Given the description of an element on the screen output the (x, y) to click on. 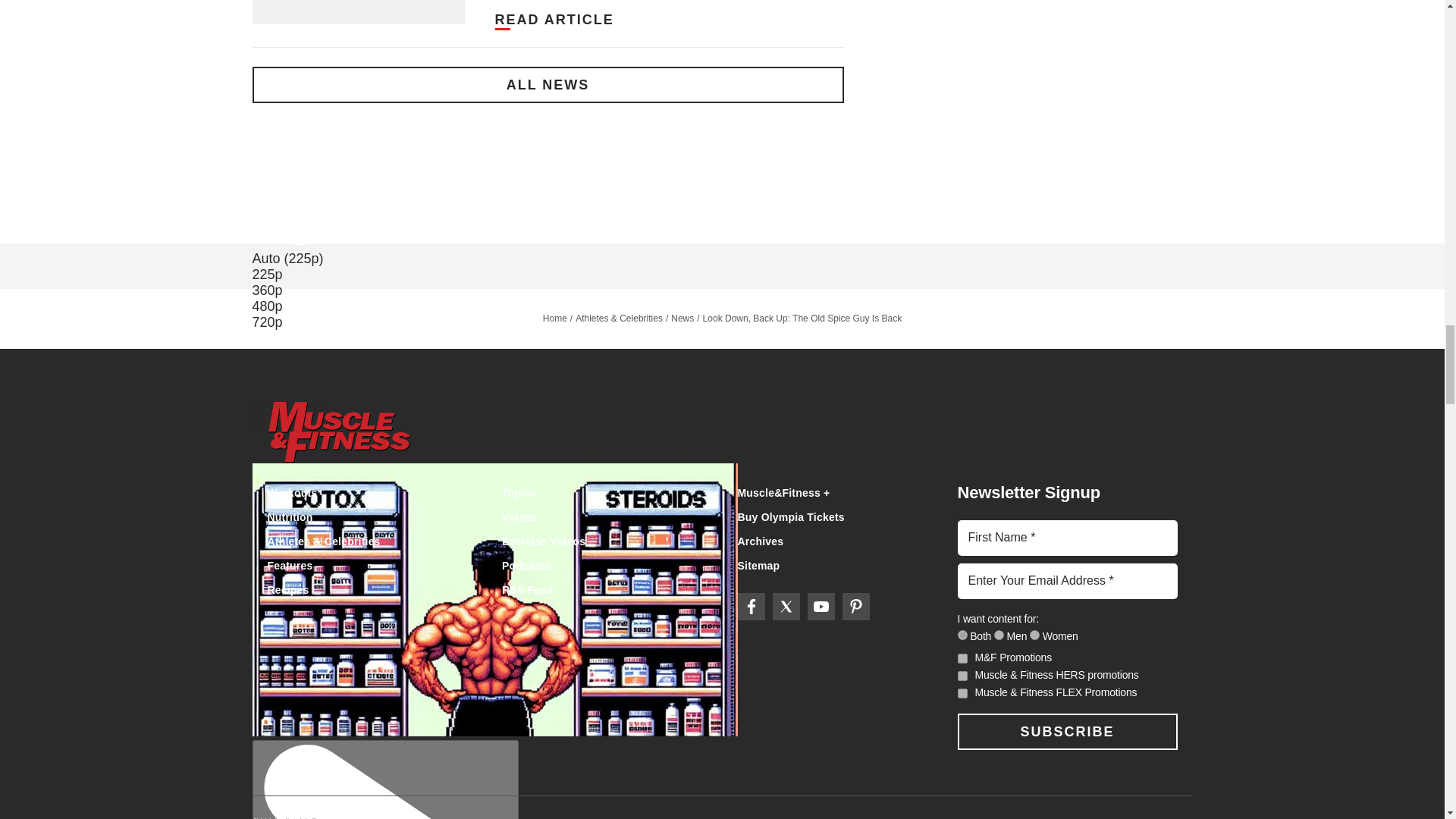
715 (1034, 634)
711 (961, 634)
713 (999, 634)
